Given the description of an element on the screen output the (x, y) to click on. 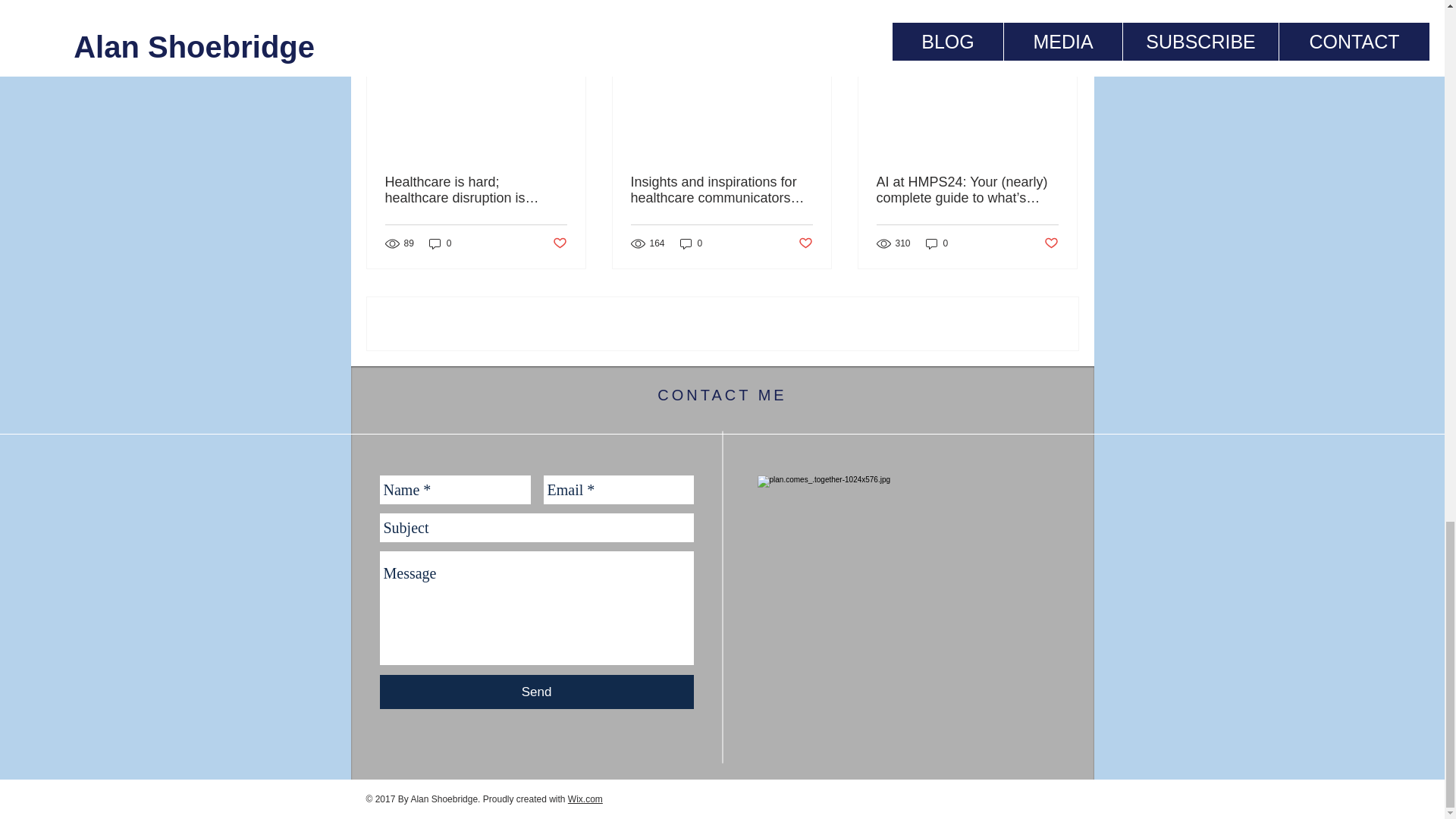
Post not marked as liked (804, 243)
See All (1061, 8)
0 (937, 243)
0 (440, 243)
Wix.com (584, 798)
Post not marked as liked (558, 243)
Post not marked as liked (1050, 243)
0 (691, 243)
Send (535, 691)
